Given the description of an element on the screen output the (x, y) to click on. 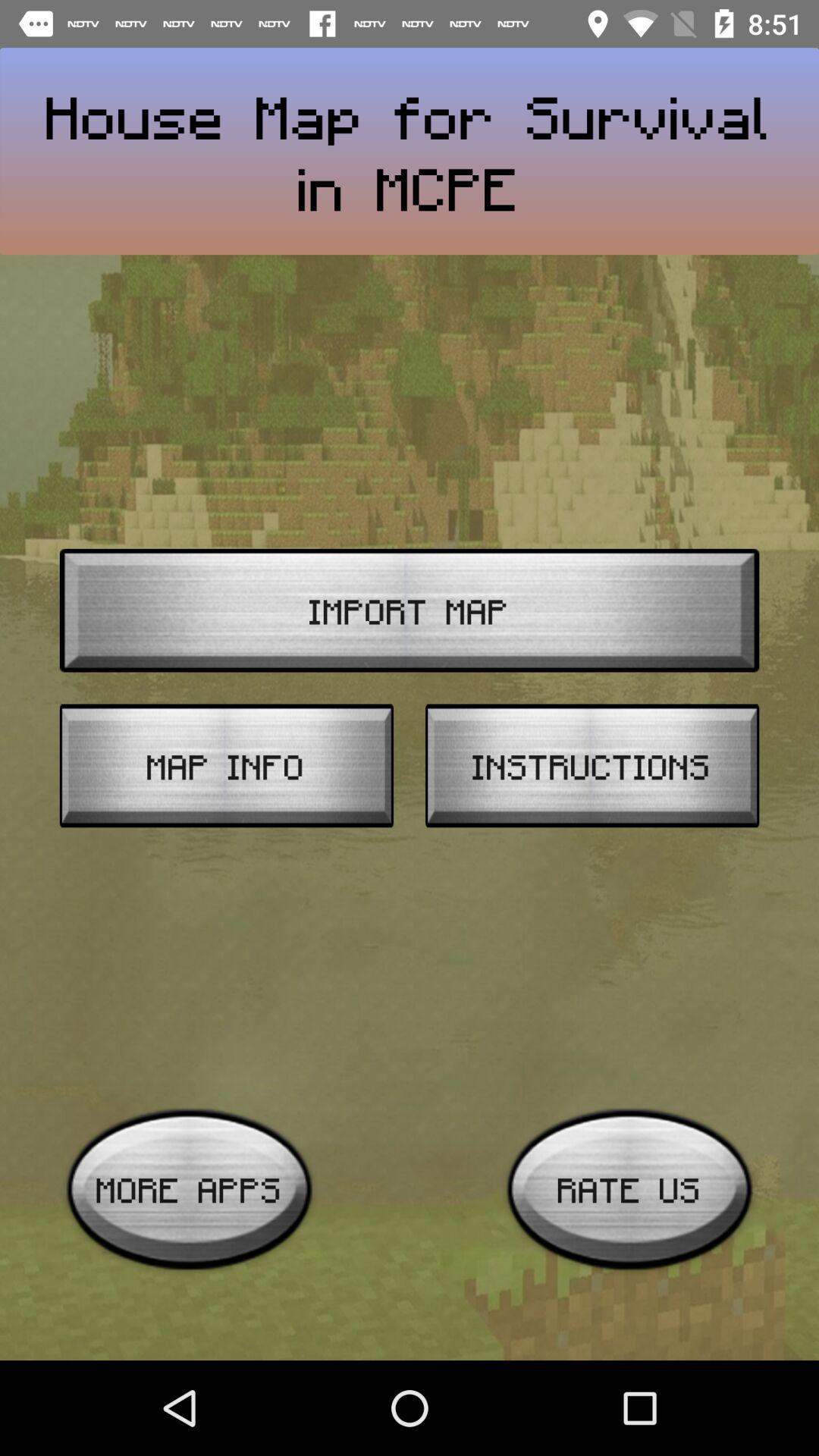
turn off the item on the right (592, 765)
